Given the description of an element on the screen output the (x, y) to click on. 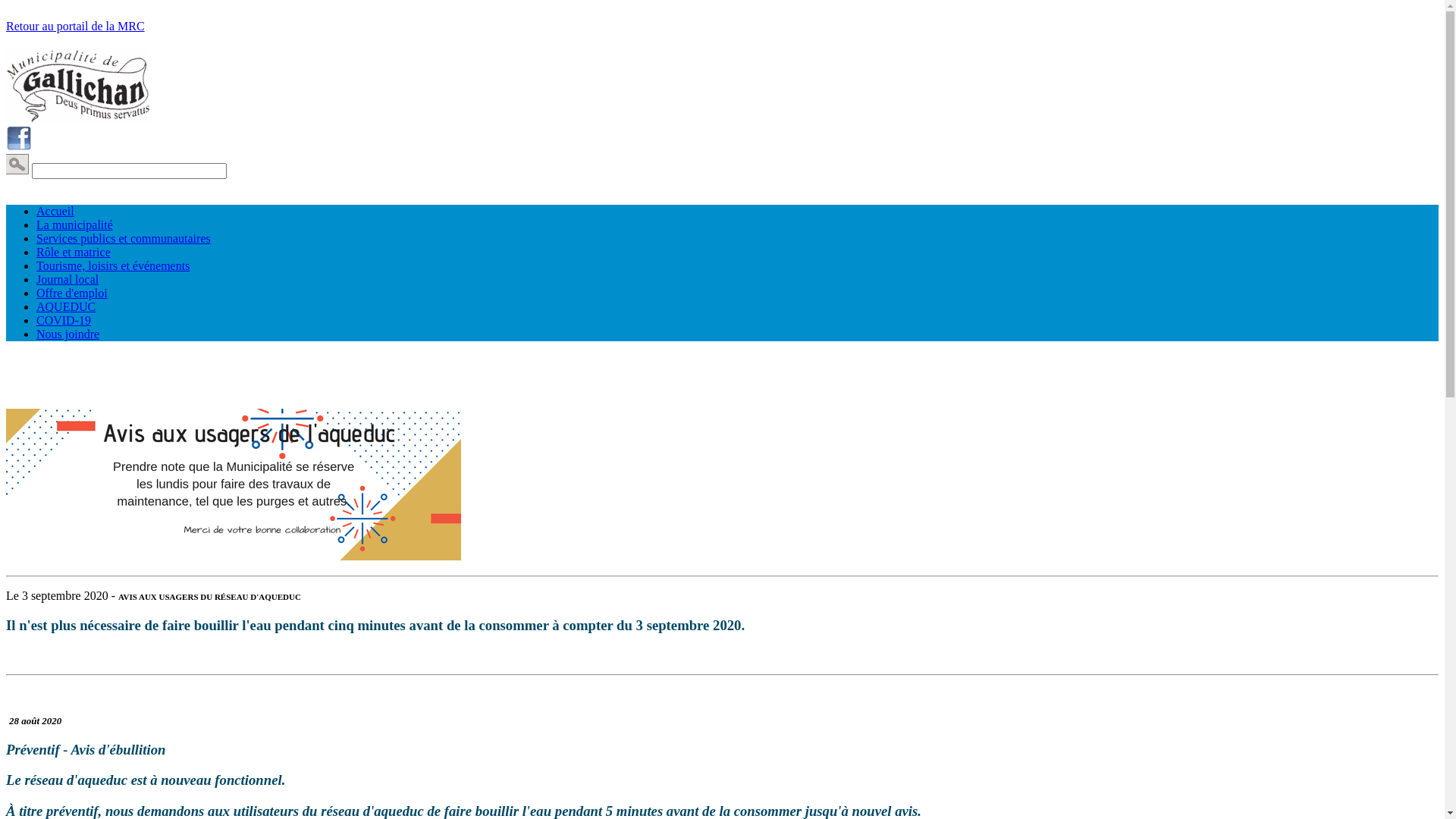
Services publics et communautaires Element type: text (123, 238)
Offre d'emploi Element type: text (71, 292)
AQUEDUC Element type: text (65, 306)
Nous joindre Element type: text (67, 333)
COVID-19 Element type: text (63, 319)
Retour au portail de la MRC Element type: text (75, 25)
Journal local Element type: text (67, 279)
Accueil Element type: text (55, 210)
